Given the description of an element on the screen output the (x, y) to click on. 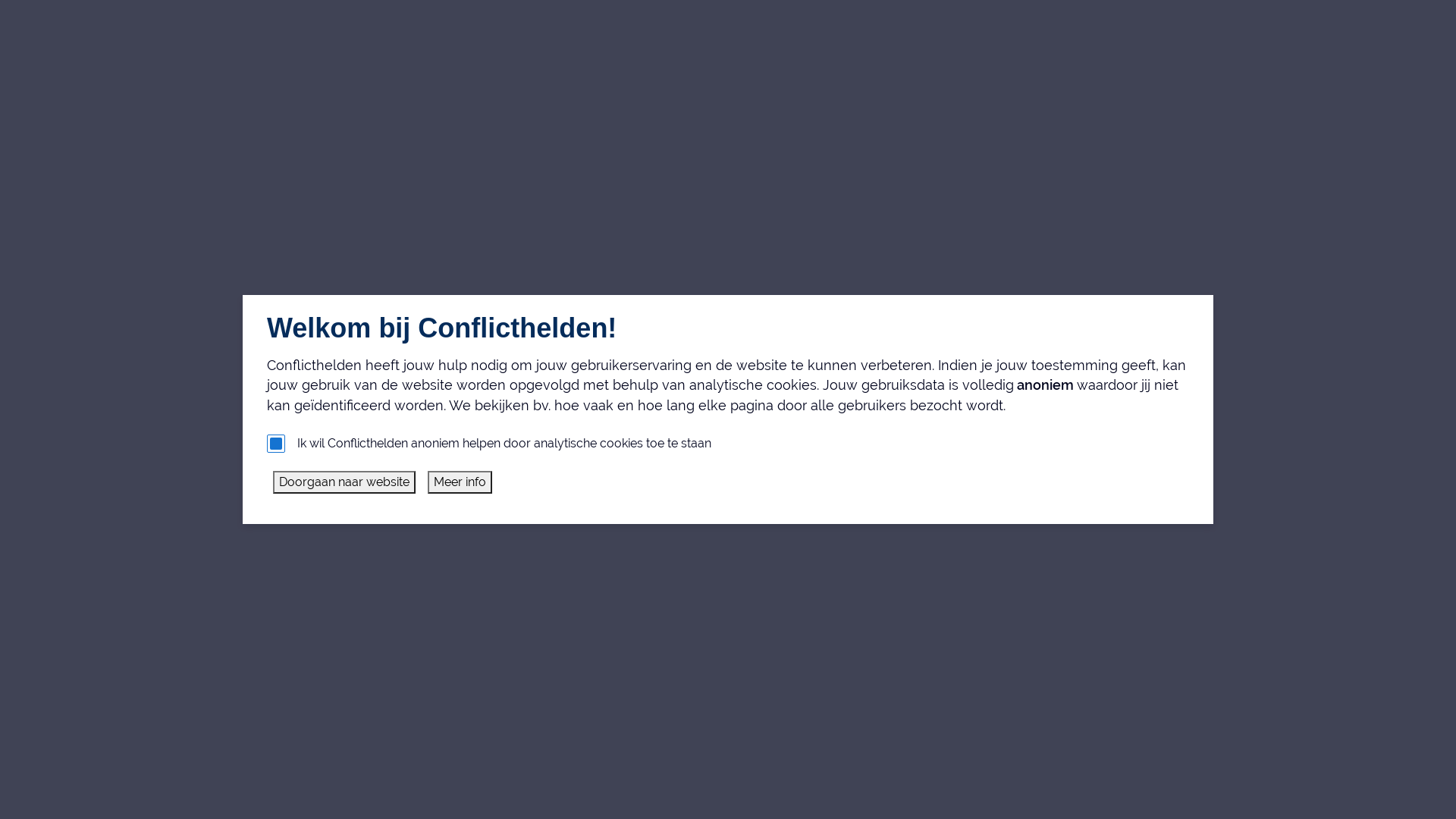
Doorgaan naar website Element type: text (344, 481)
Meer info Element type: text (459, 481)
